Given the description of an element on the screen output the (x, y) to click on. 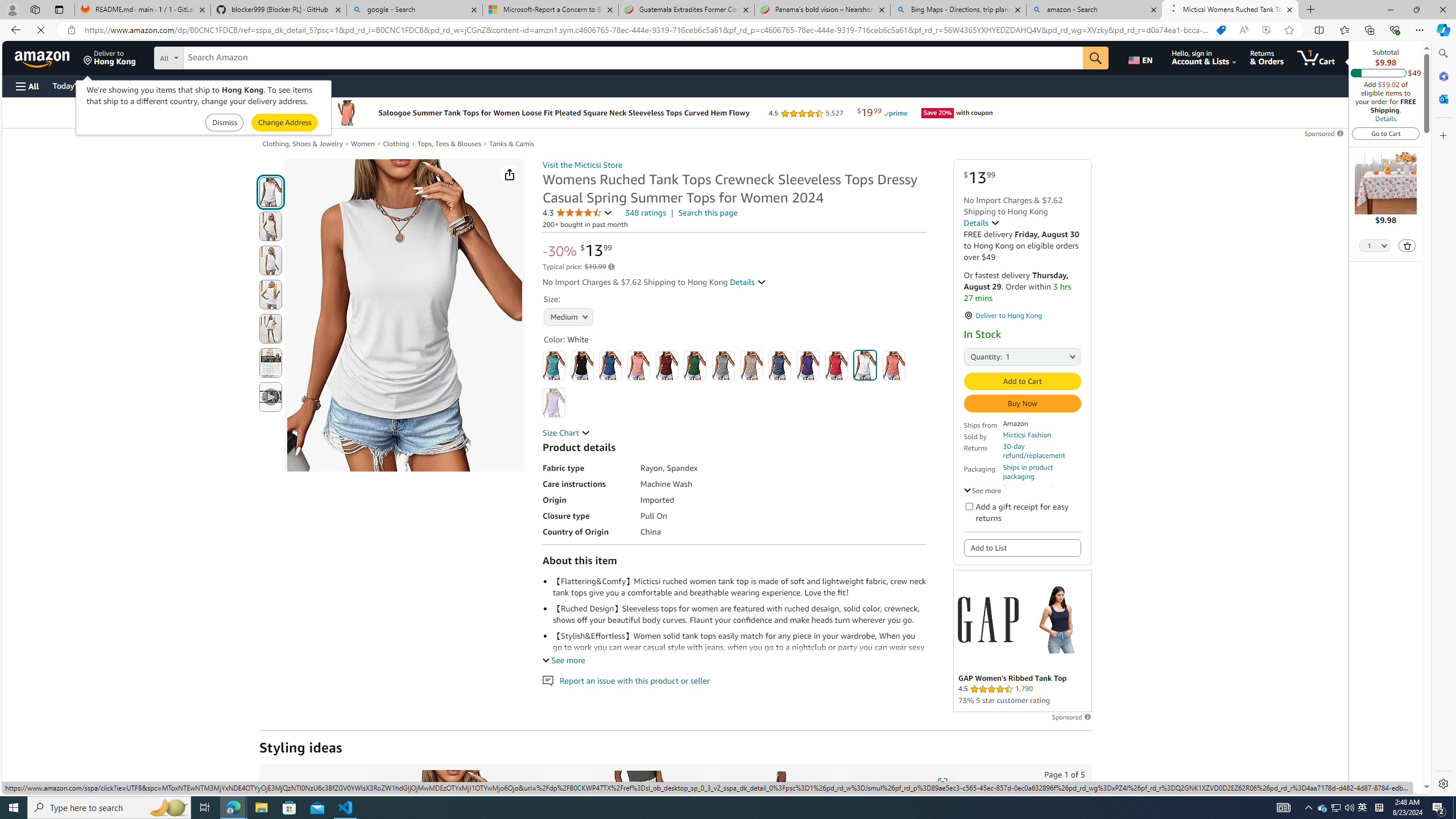
Search in (210, 56)
Tanks & Camis (515, 144)
4.3 4.3 out of 5 stars (577, 212)
Purple (808, 365)
Quantity Selector (1374, 246)
Sponsored ad (1022, 640)
Khaki (751, 365)
Navy Blue (779, 365)
Ships in product packaging (1042, 471)
Clothing (395, 143)
